Given the description of an element on the screen output the (x, y) to click on. 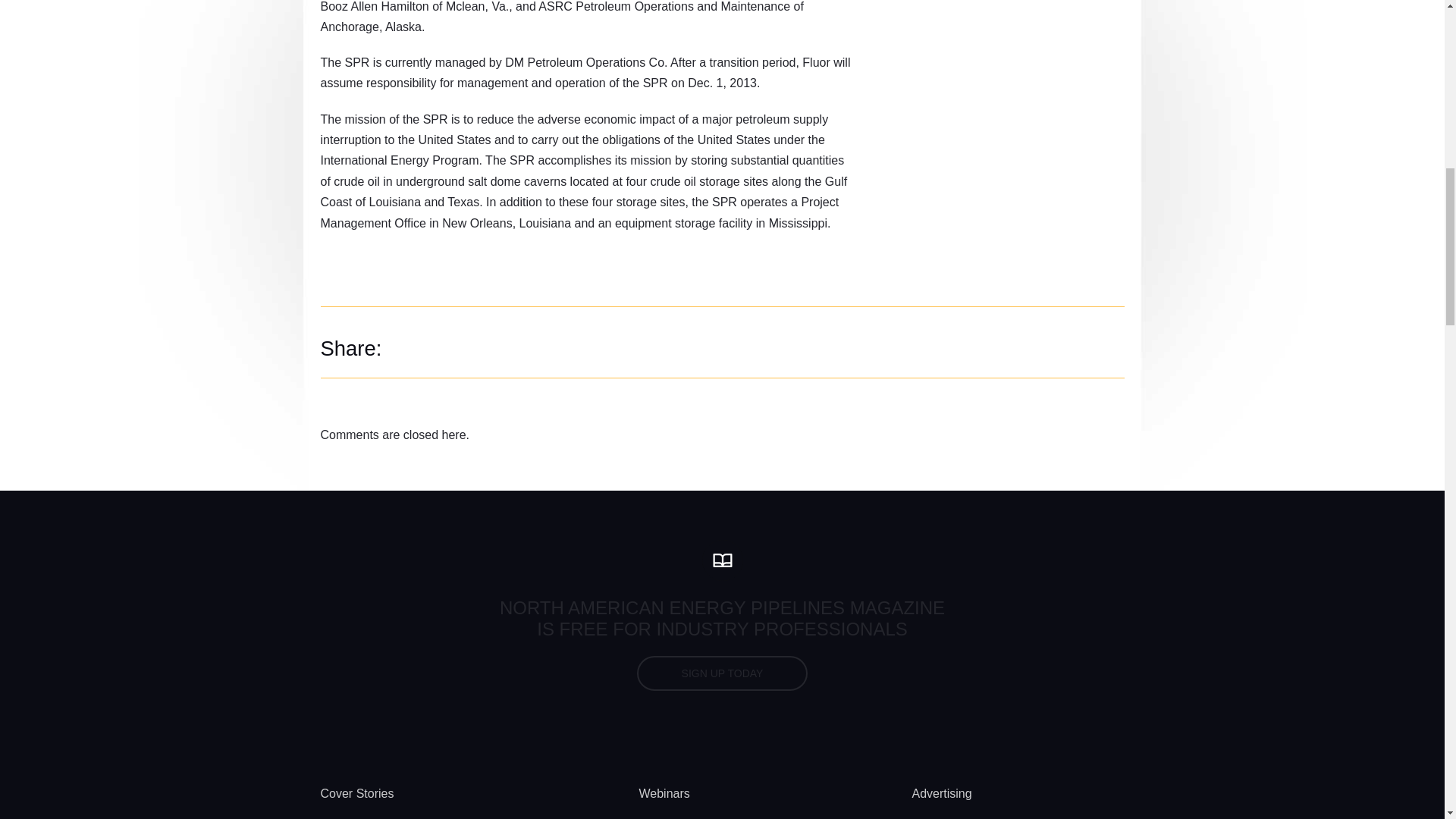
Webinars (663, 793)
Cover Stories (356, 793)
Featured Editorial (367, 815)
SIGN UP TODAY (722, 673)
